Given the description of an element on the screen output the (x, y) to click on. 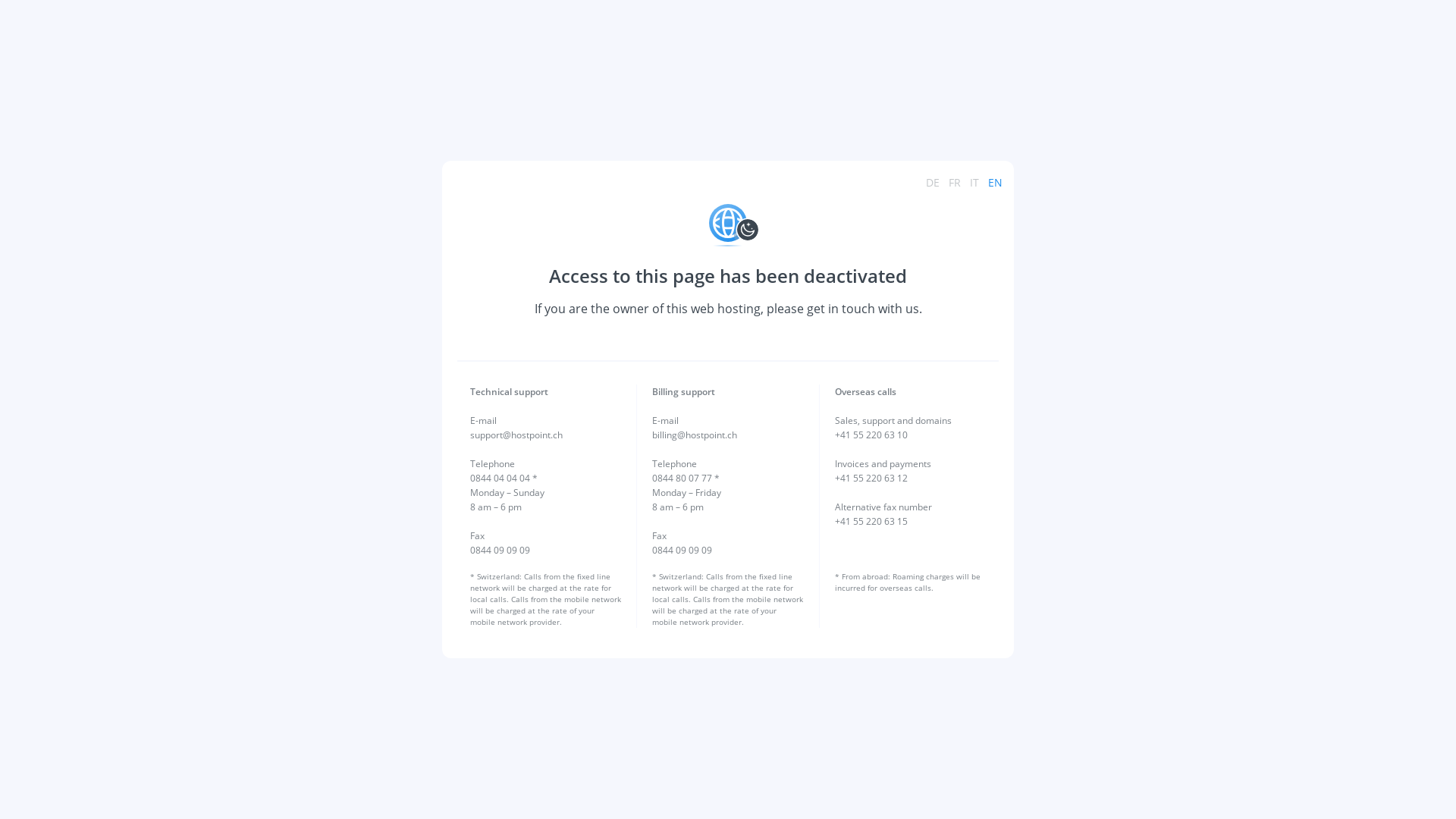
billing@hostpoint.ch Element type: text (694, 434)
support@hostpoint.ch Element type: text (516, 434)
